Given the description of an element on the screen output the (x, y) to click on. 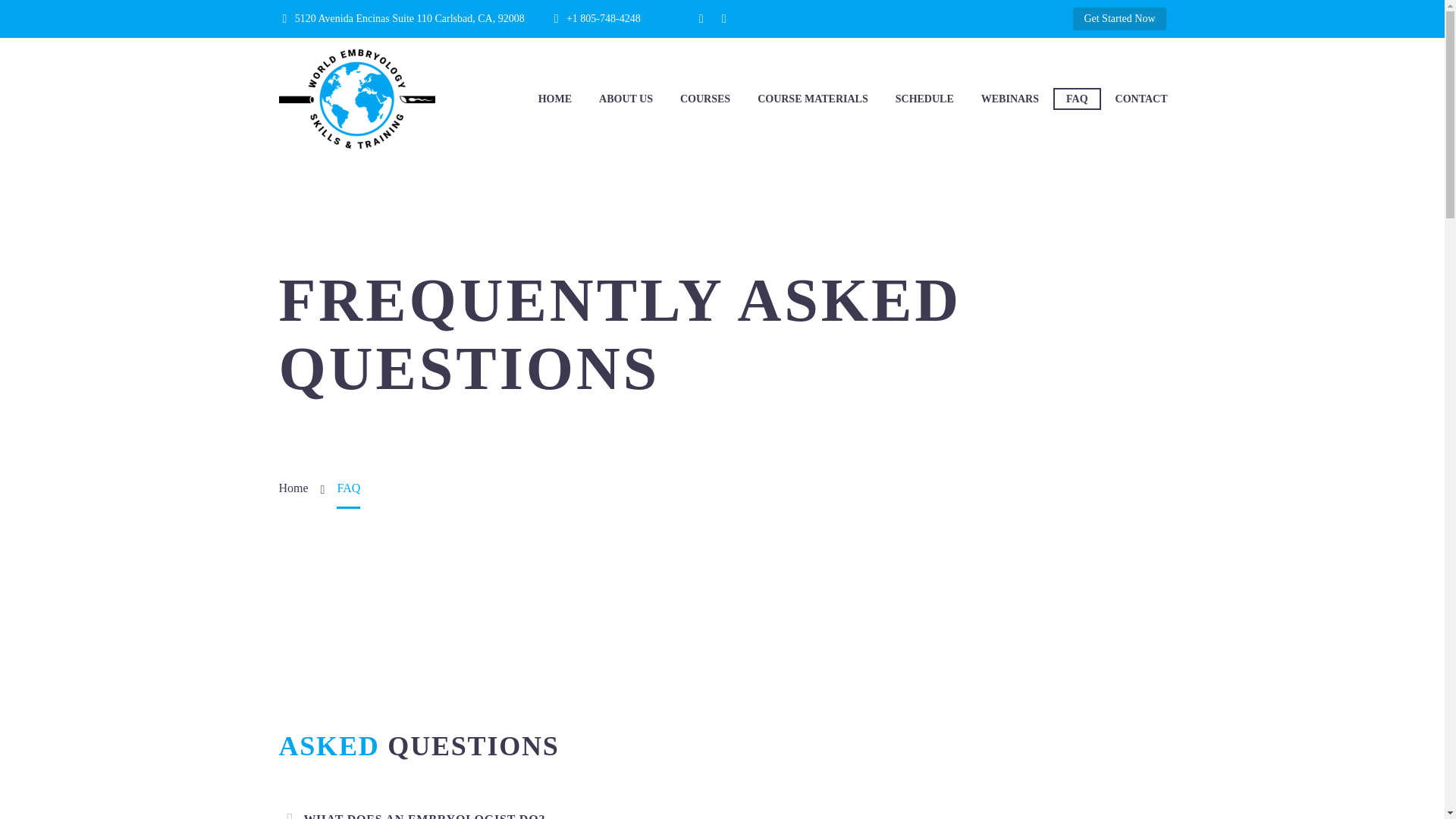
COURSE MATERIALS (812, 98)
Get Started Now (1119, 18)
FAQ (1076, 98)
WEBINARS (1009, 98)
YouTube (724, 19)
SCHEDULE (924, 98)
Instagram (701, 19)
Home (293, 487)
ABOUT US (625, 98)
HOME (555, 98)
